Given the description of an element on the screen output the (x, y) to click on. 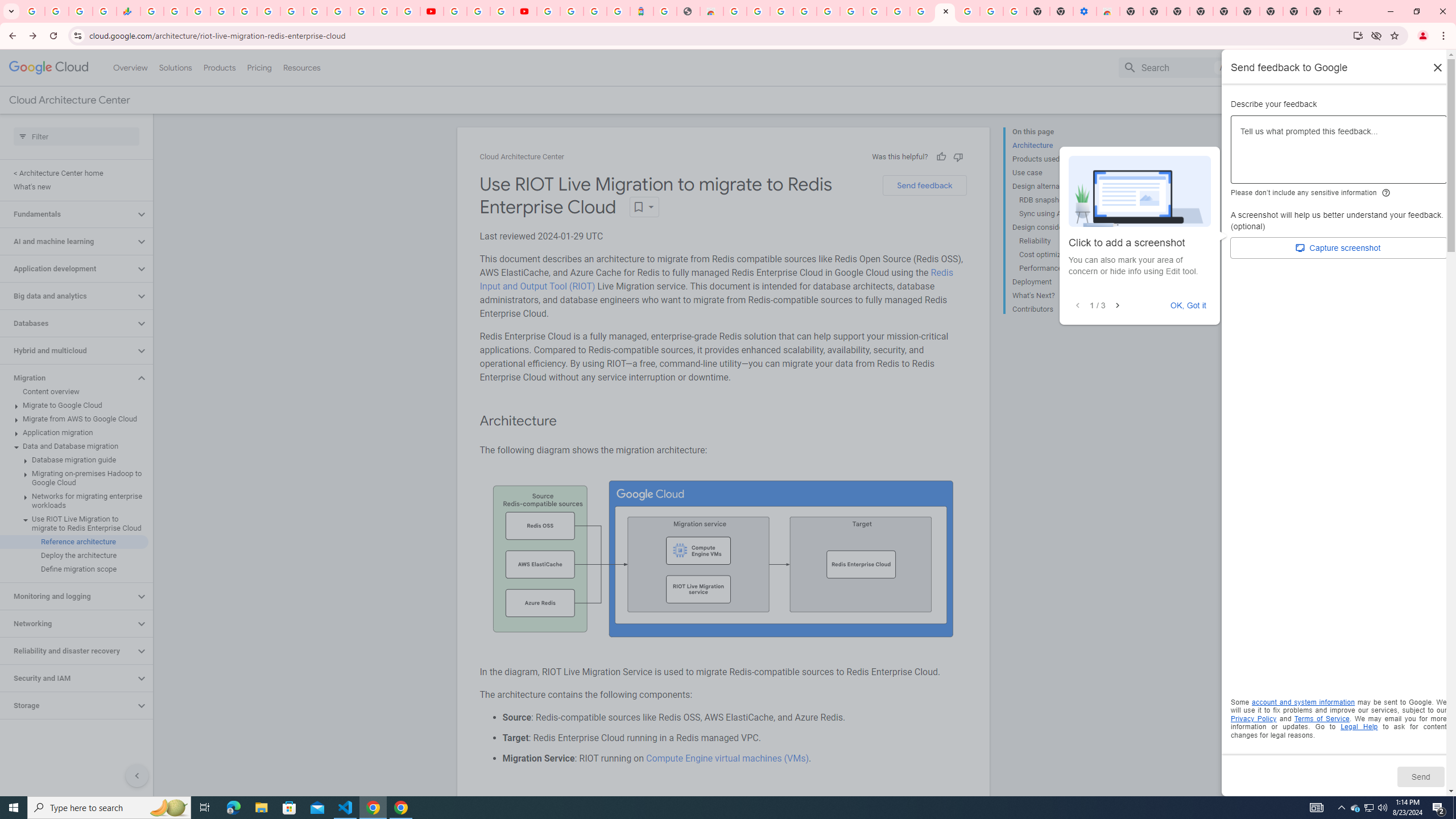
Products used (1058, 159)
Privacy Checkup (408, 11)
Not helpful (957, 156)
Opens in a new tab. Legal Help (1358, 727)
Design alternatives (1058, 186)
Cost optimization (1062, 254)
New Tab (1318, 11)
Settings - Accessibility (1085, 11)
Contributors (1058, 307)
Sign in - Google Accounts (827, 11)
Networking (67, 623)
Start free (1400, 100)
account and system information (1303, 702)
